Given the description of an element on the screen output the (x, y) to click on. 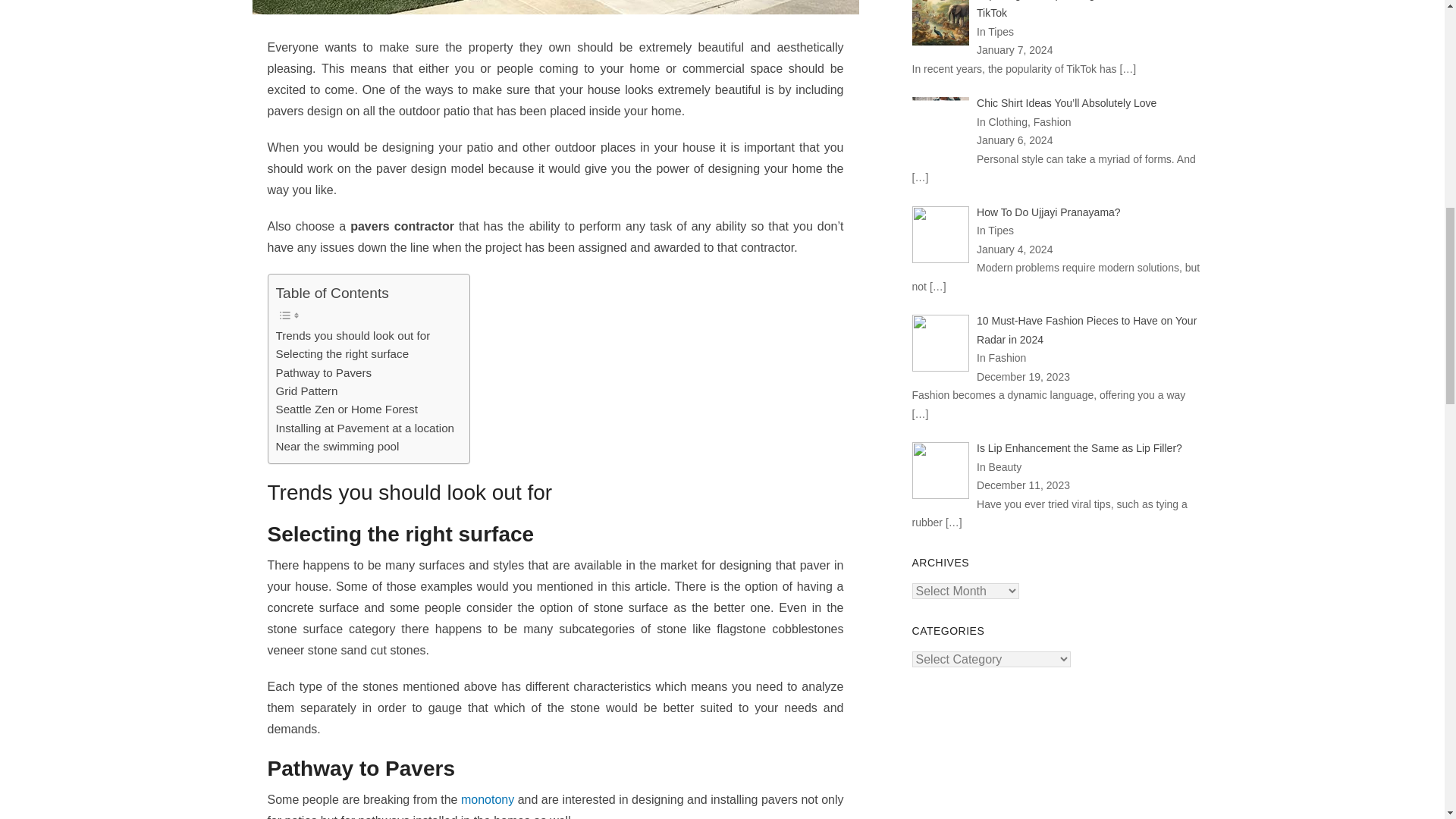
Pathway to Pavers (324, 372)
Selecting the right surface (342, 353)
Seattle Zen or Home Forest (346, 409)
Installing at Pavement at a location (365, 428)
Grid Pattern (306, 391)
Near the swimming pool (337, 446)
Trends you should look out for (353, 335)
